Given the description of an element on the screen output the (x, y) to click on. 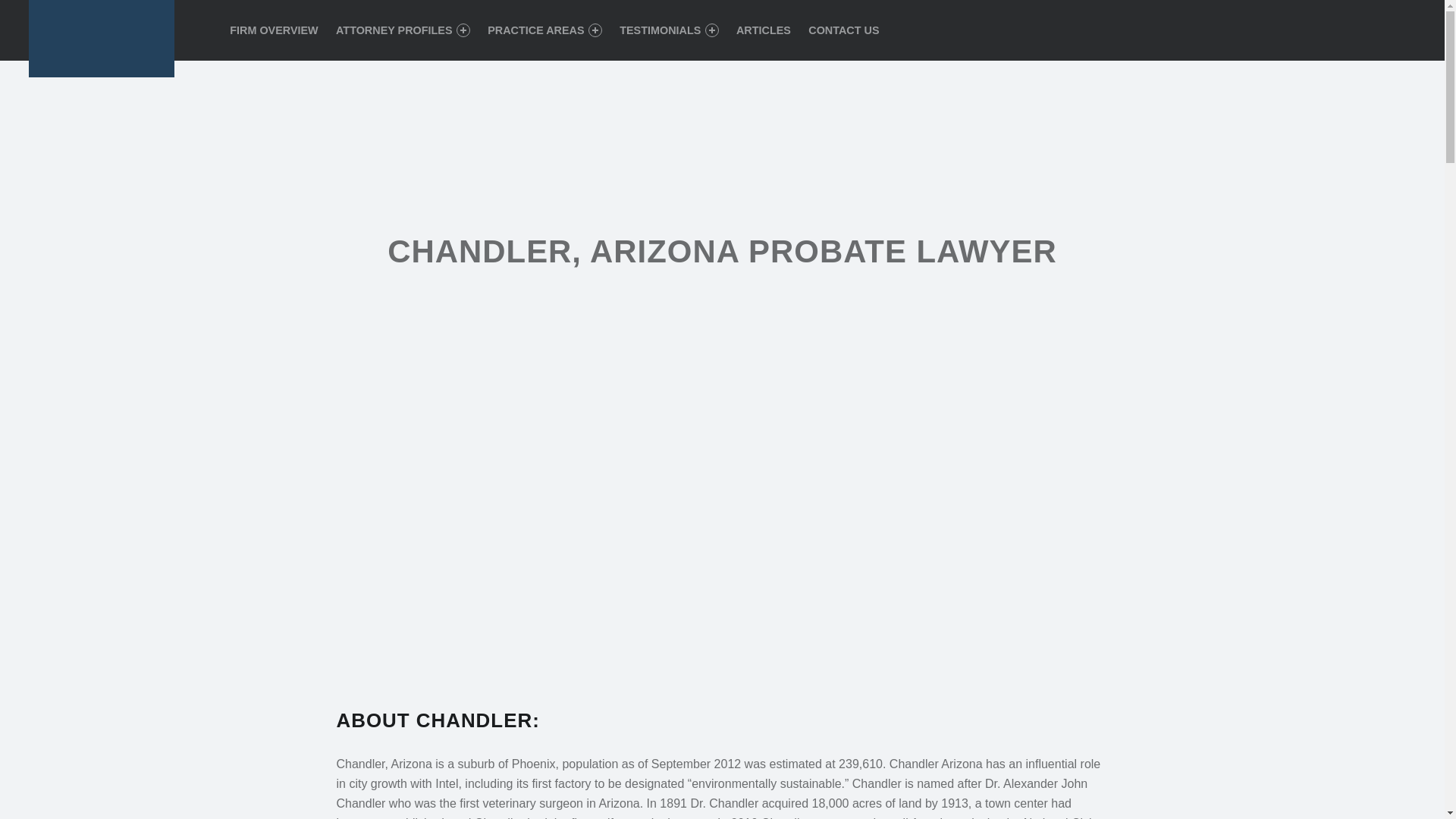
CONTACT US (843, 30)
ARTICLES (763, 30)
ATTORNEY PROFILES (403, 30)
PRACTICE AREAS (544, 30)
TESTIMONIALS (668, 30)
FIRM OVERVIEW (273, 30)
